Given the description of an element on the screen output the (x, y) to click on. 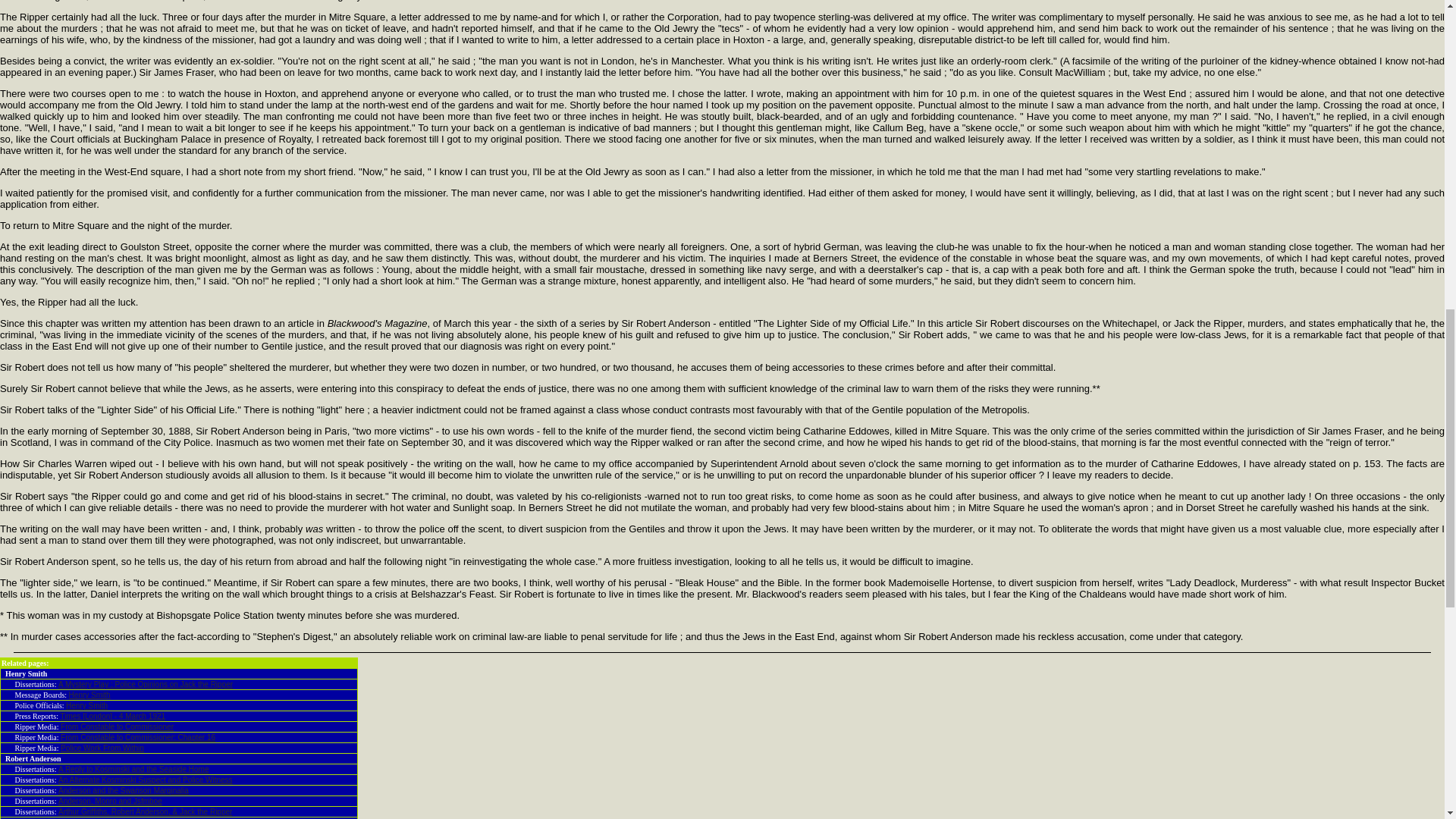
A Reply to Kosminski and the Seaside Home (133, 768)
Anderson and the Swanson Marginalia (123, 790)
Henry Smith (86, 705)
Police Work From Within (102, 747)
Henry Smith (89, 695)
Anderson, Monro and Jsfmboe (109, 800)
From Constable to Commissioner (117, 726)
An Alternate Kosminski Suspect and Police Witness (145, 779)
From Constable to Commissioner: Chapter 16 (138, 737)
A Mystery Play : Police Opinions on Jack the Ripper (145, 684)
